Given the description of an element on the screen output the (x, y) to click on. 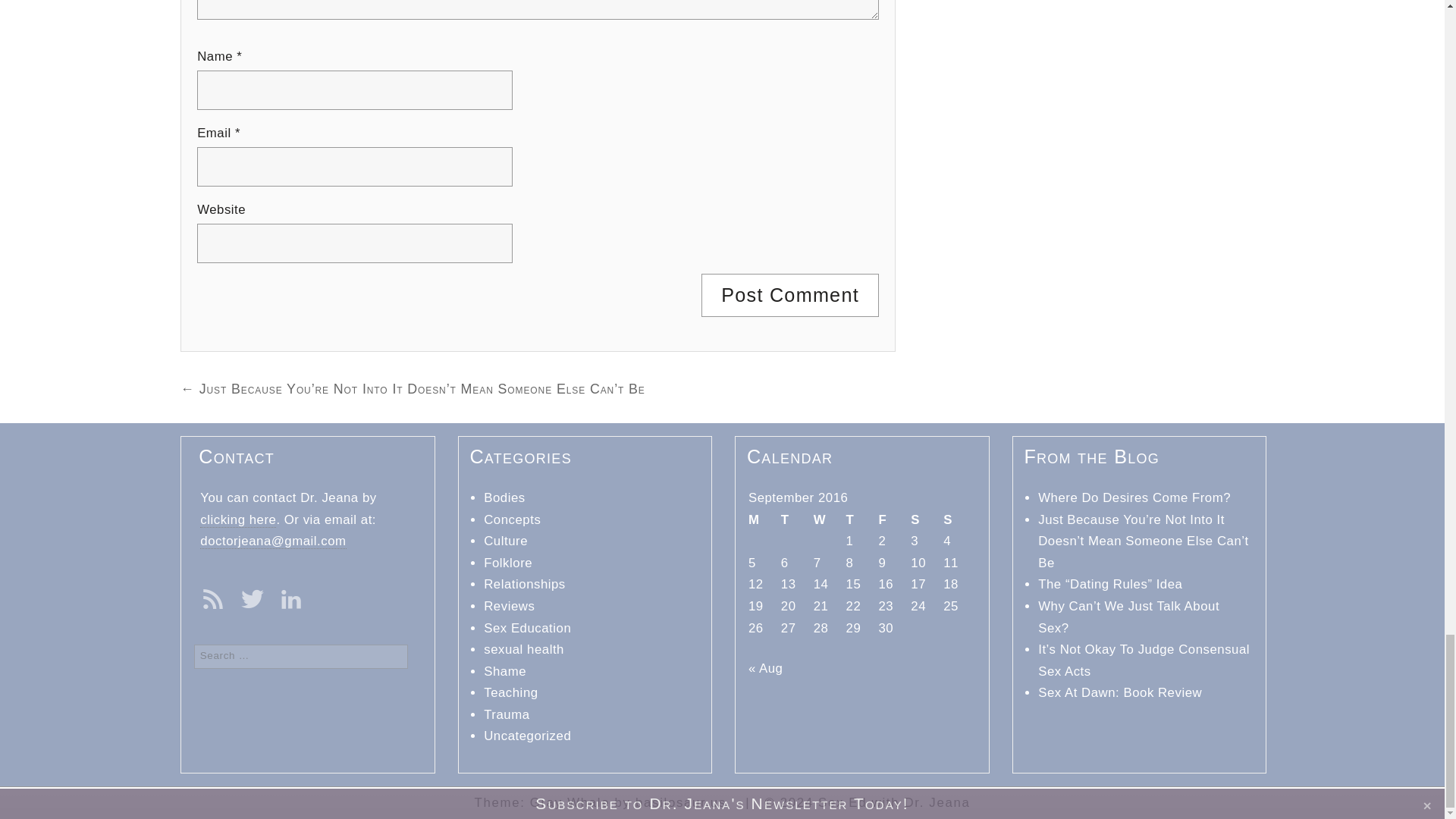
Sunday (959, 520)
Monday (764, 520)
Thursday (862, 520)
Friday (894, 520)
Wednesday (829, 520)
Saturday (927, 520)
Tuesday (796, 520)
Post Comment (790, 294)
